Given the description of an element on the screen output the (x, y) to click on. 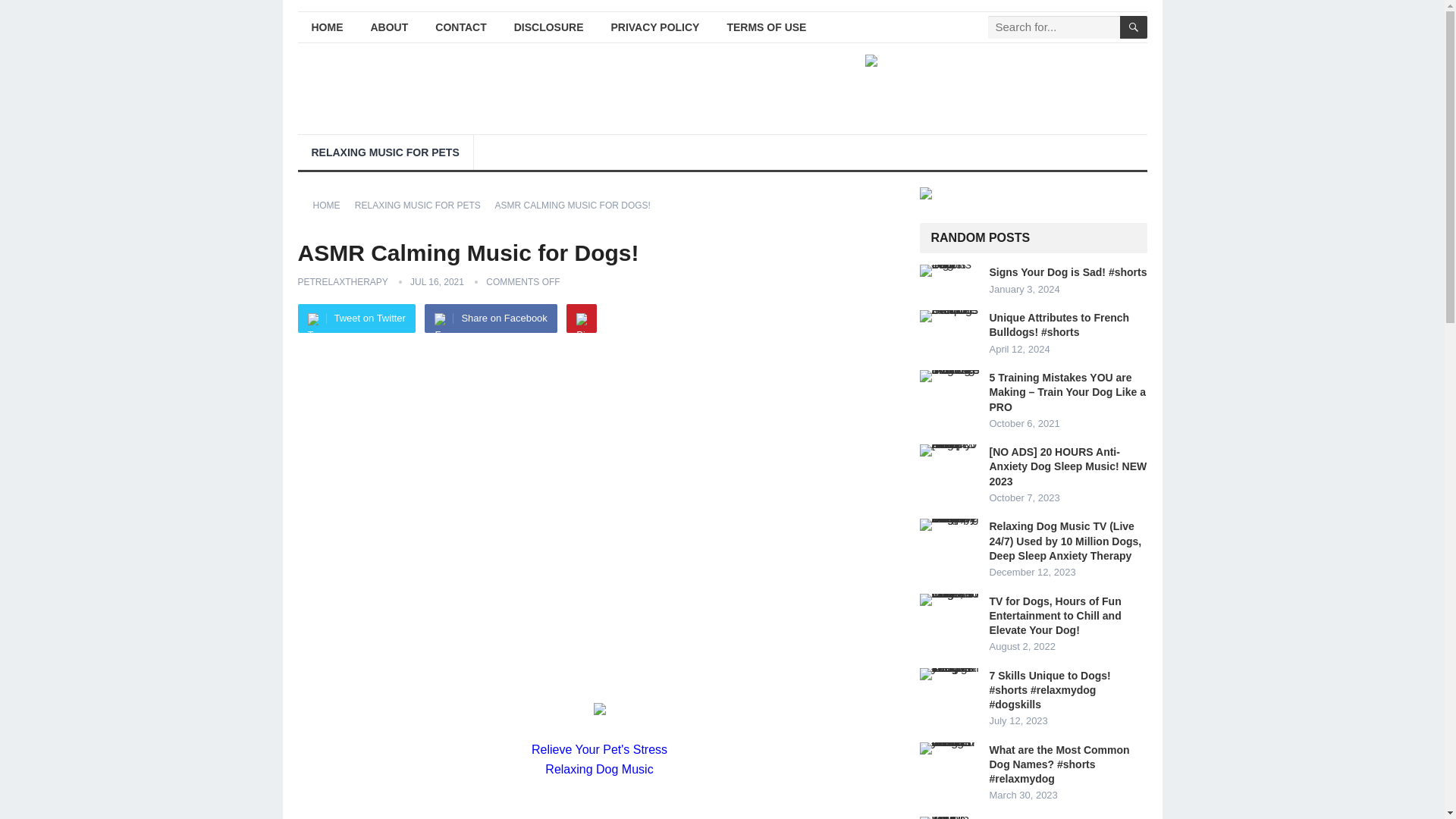
Share on Facebook (490, 317)
TikTok Trends to Do with Your Dog! 21 (948, 817)
RELAXING MUSIC FOR PETS (384, 152)
Posts by petrelaxtherapy (342, 281)
HOME (326, 27)
HOME (331, 204)
RELAXING MUSIC FOR PETS (423, 204)
CONTACT (460, 27)
PRIVACY POLICY (654, 27)
DISCLOSURE (548, 27)
